Given the description of an element on the screen output the (x, y) to click on. 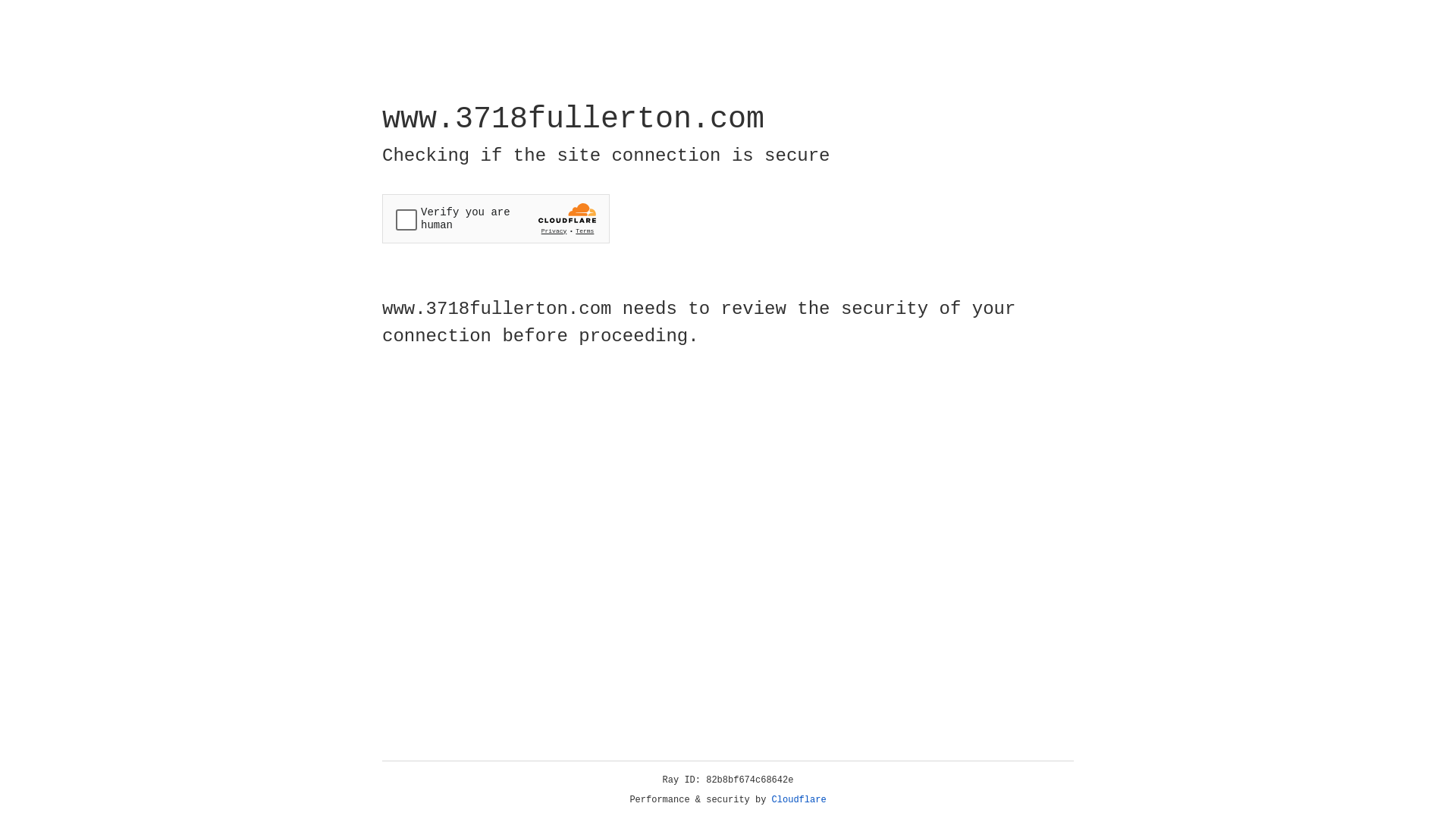
Widget containing a Cloudflare security challenge Element type: hover (495, 218)
Cloudflare Element type: text (798, 799)
